Given the description of an element on the screen output the (x, y) to click on. 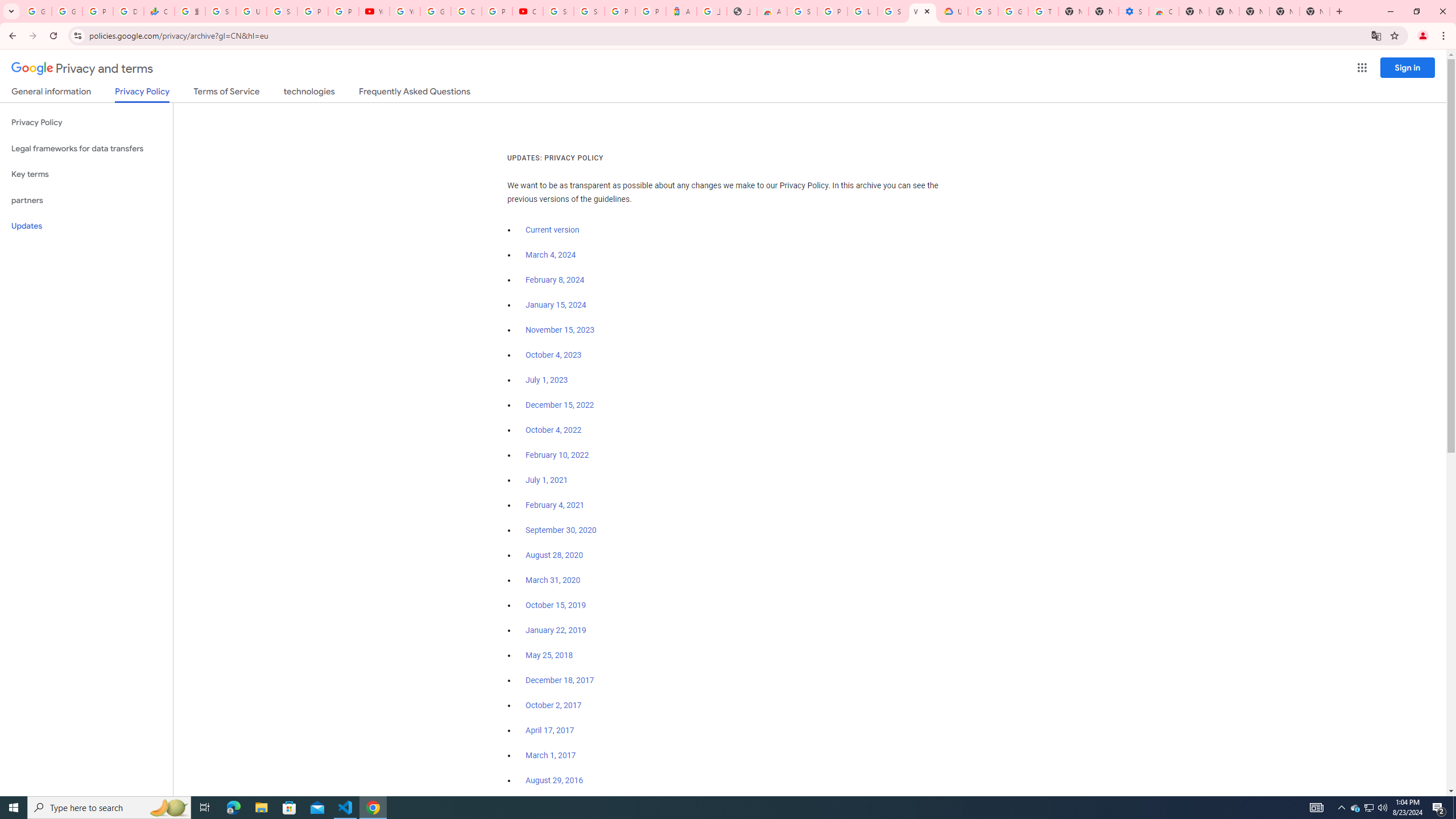
Create your Google Account (465, 11)
Sign in - Google Accounts (220, 11)
New Tab (1254, 11)
Awesome Screen Recorder & Screenshot - Chrome Web Store (771, 11)
Chrome Web Store - Accessibility extensions (1163, 11)
Content Creator Programs & Opportunities - YouTube Creators (527, 11)
August 29, 2016 (553, 780)
technologies (308, 93)
New Tab (1193, 11)
